Given the description of an element on the screen output the (x, y) to click on. 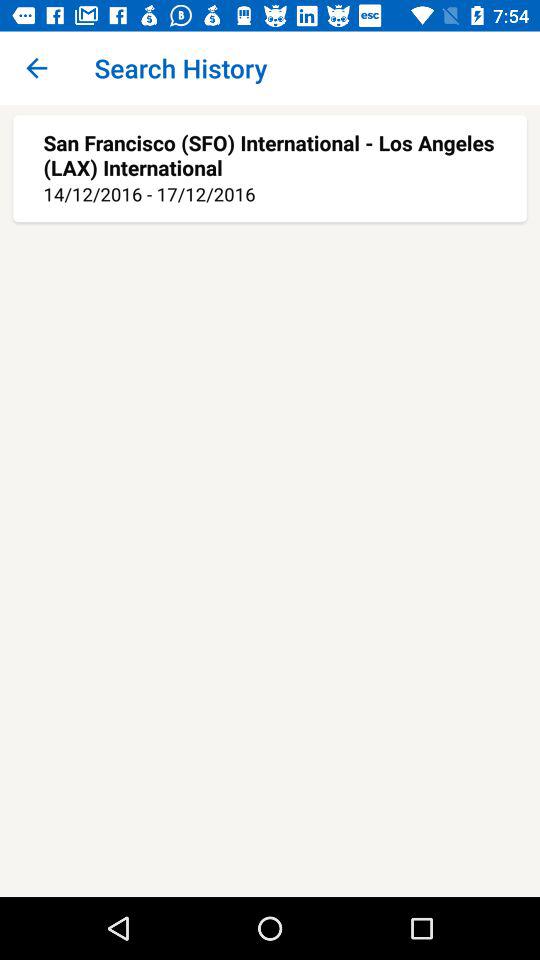
click the item next to search history app (36, 68)
